Given the description of an element on the screen output the (x, y) to click on. 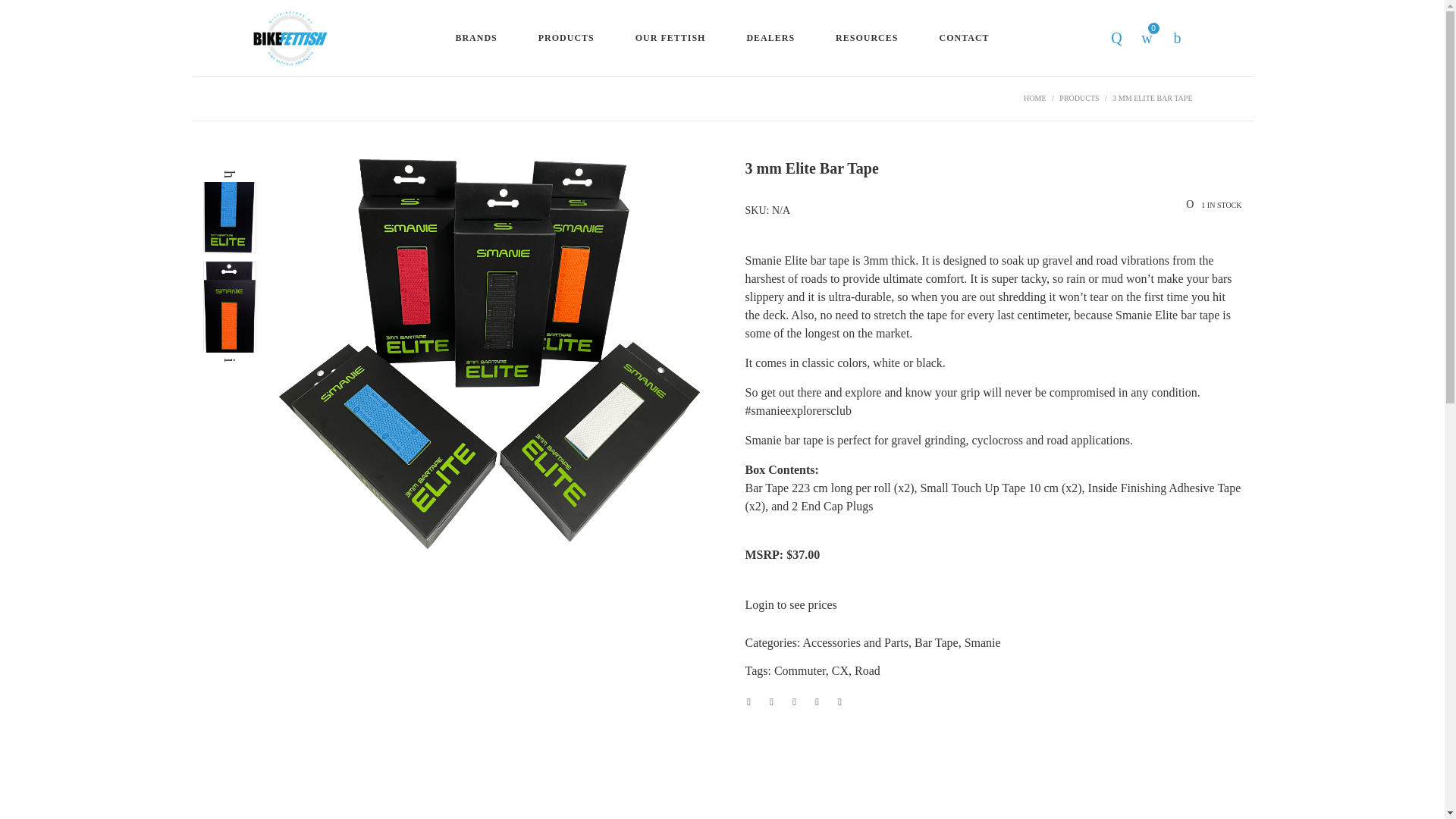
Share this post on Facebook (748, 701)
DEALERS (770, 37)
Products (1079, 98)
BRANDS (476, 37)
PRODUCTS (566, 37)
RESOURCES (866, 37)
Home (1034, 98)
OUR FETTISH (670, 37)
Share this post on Twitter (771, 701)
